Given the description of an element on the screen output the (x, y) to click on. 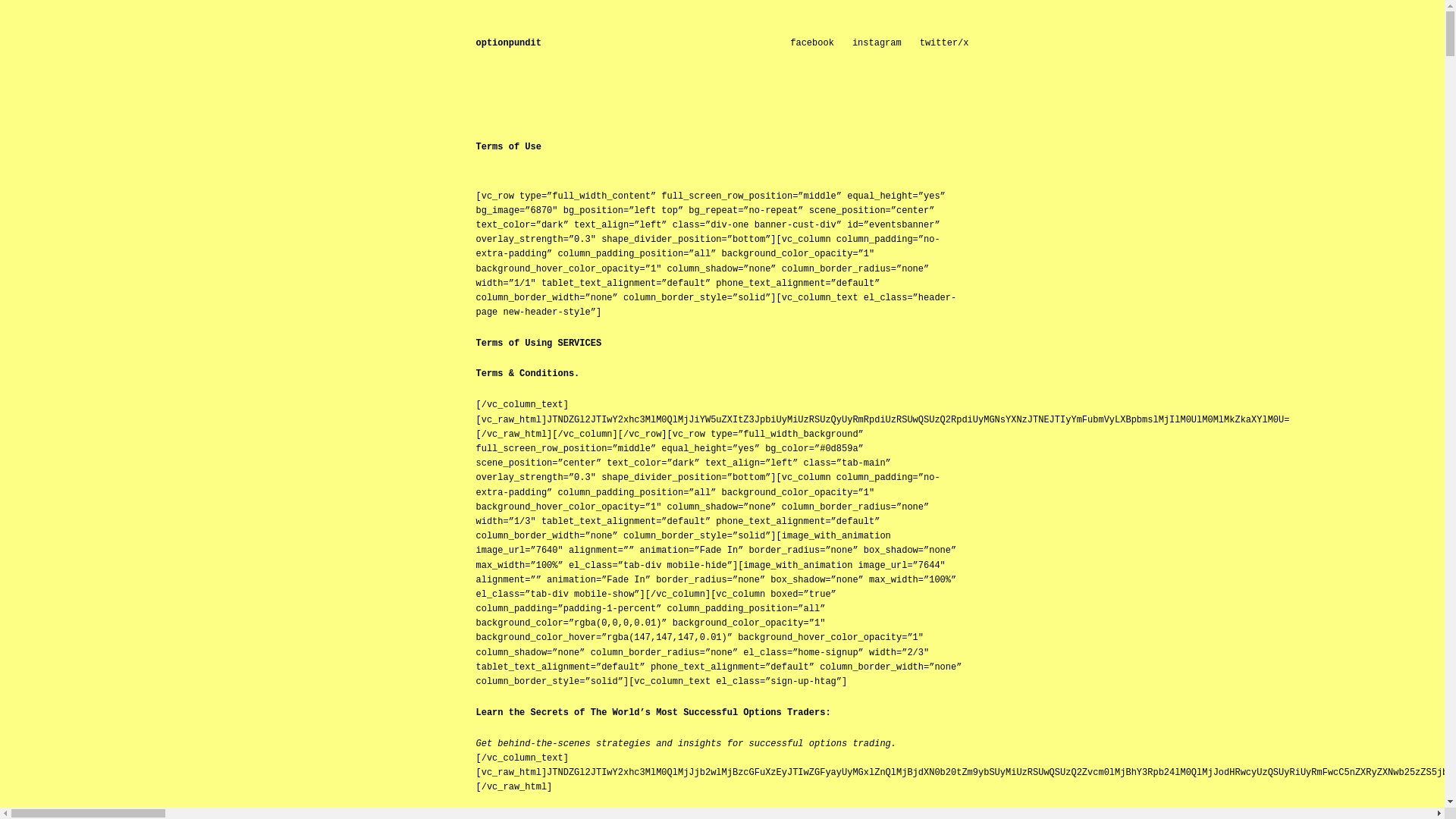
facebook (812, 43)
optionpundit (508, 42)
instagram (876, 43)
